Given the description of an element on the screen output the (x, y) to click on. 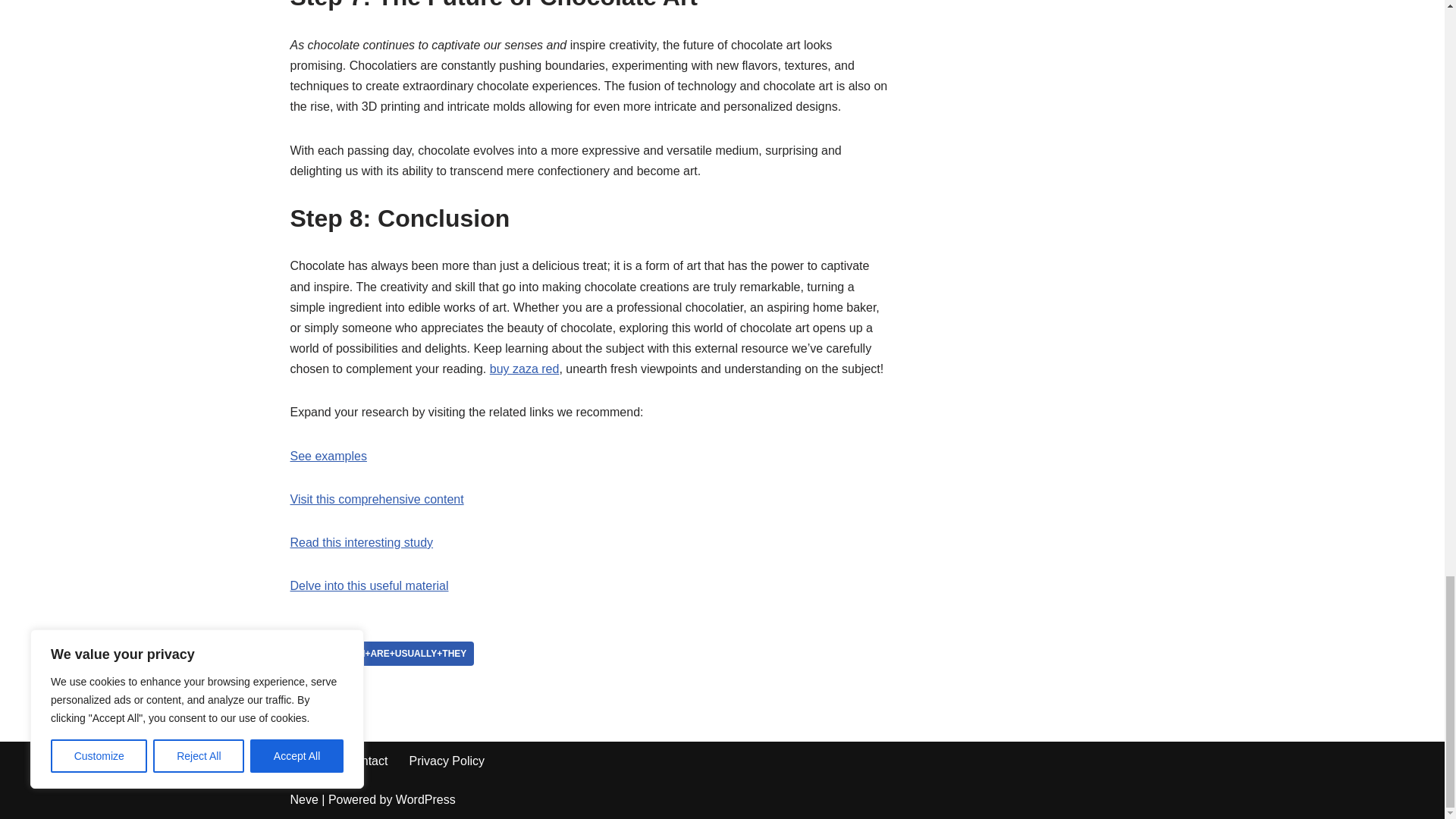
Visit this comprehensive content (376, 499)
Delve into this useful material (368, 585)
About (308, 761)
Privacy Policy (446, 761)
See examples (327, 455)
Neve (303, 799)
Contact (366, 761)
Read this interesting study (360, 542)
buy zaza red (524, 368)
